Given the description of an element on the screen output the (x, y) to click on. 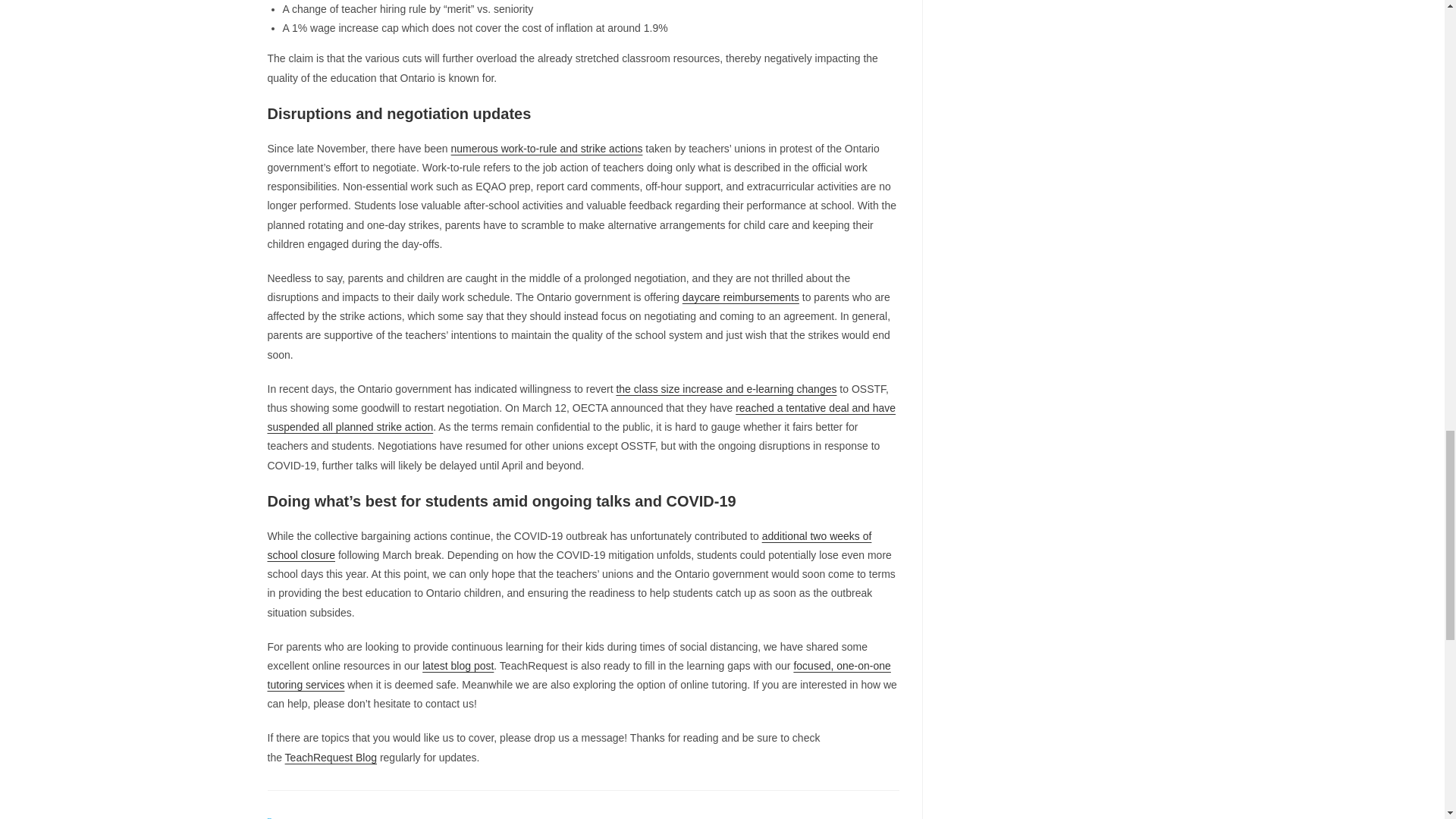
focused, one-on-one tutoring services (577, 675)
additional two weeks of school closure (568, 545)
numerous work-to-rule and strike actions (547, 148)
latest blog post (457, 665)
daycare reimbursements (740, 297)
TeachRequest Blog (331, 757)
the class size increase and e-learning changes (725, 388)
